Given the description of an element on the screen output the (x, y) to click on. 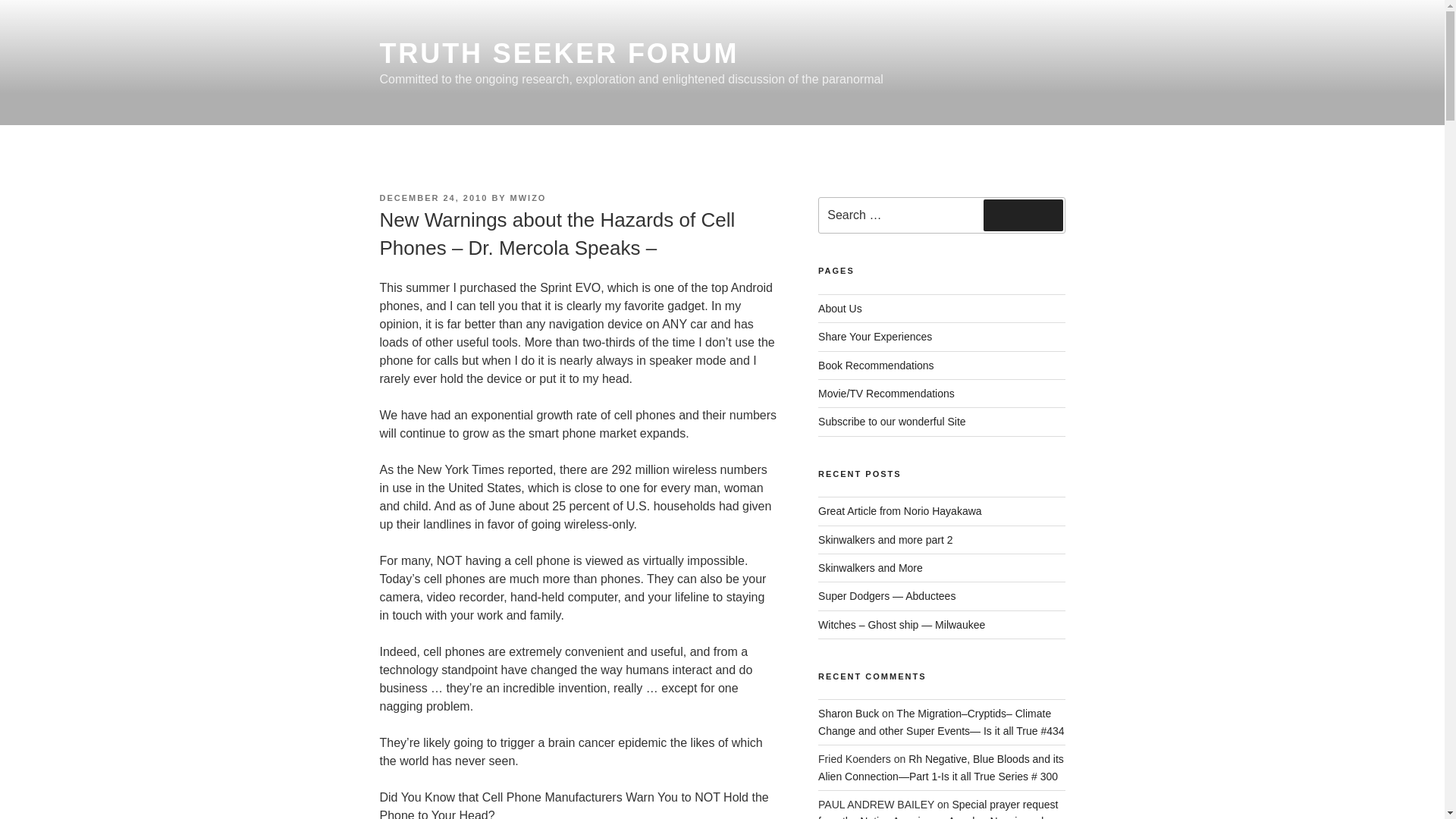
DECEMBER 24, 2010 (432, 197)
TRUTH SEEKER FORUM (558, 52)
Subscribe to our wonderful Site (892, 421)
Skinwalkers and more part 2 (885, 539)
Book Recommendations (876, 365)
MWIZO (529, 197)
Sharon Buck (848, 713)
Search (1023, 214)
Great Article from Norio Hayakawa (899, 510)
Share Your Experiences (874, 336)
